Given the description of an element on the screen output the (x, y) to click on. 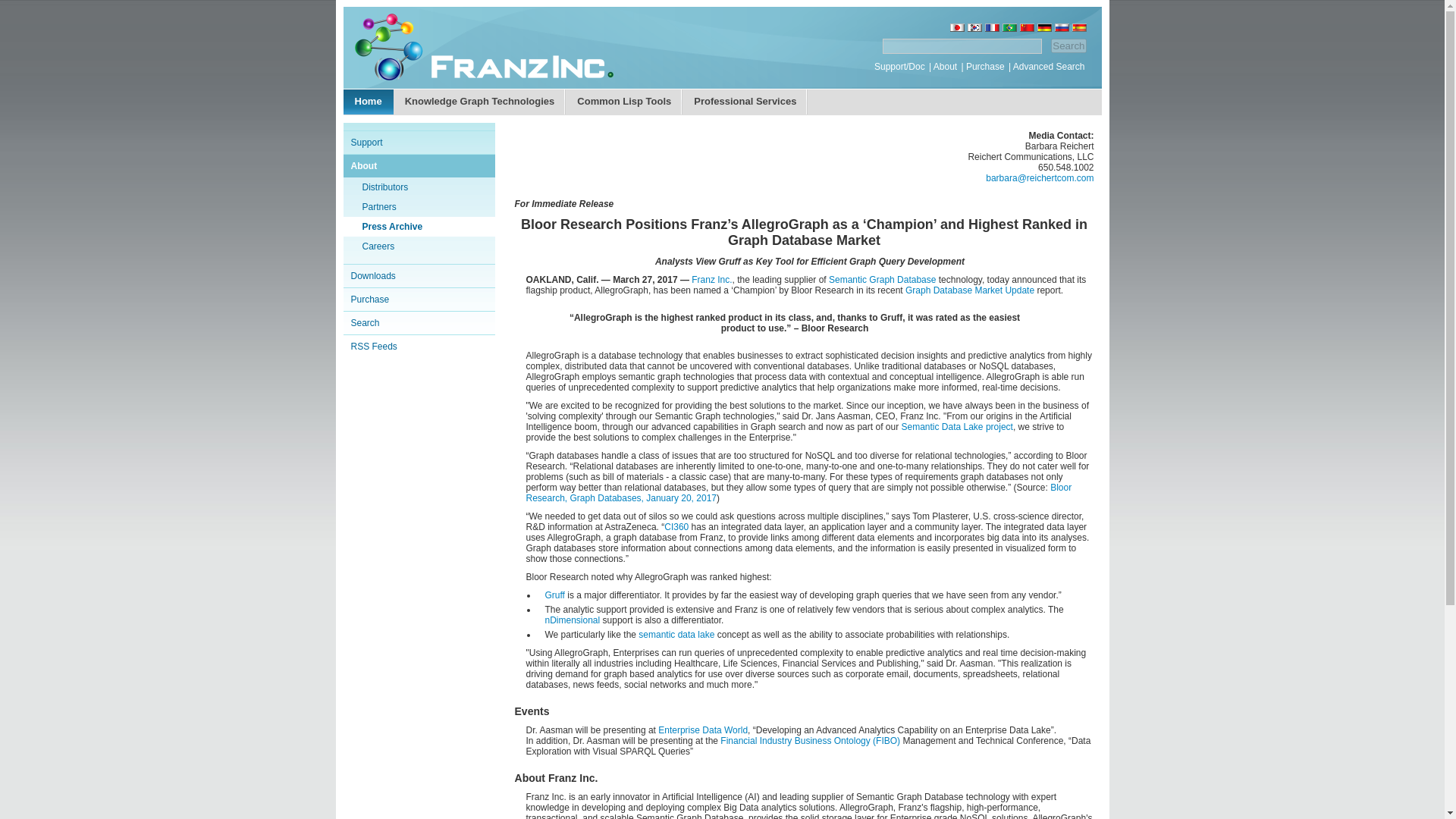
Search (1068, 45)
Distributors (385, 186)
Semantic Data Lake project (956, 426)
Downloads (372, 276)
Advanced Search (1048, 66)
Search (1068, 45)
Common Lisp Tools (623, 100)
RSS Feeds (373, 346)
About (944, 66)
Professional Services (745, 100)
